Given the description of an element on the screen output the (x, y) to click on. 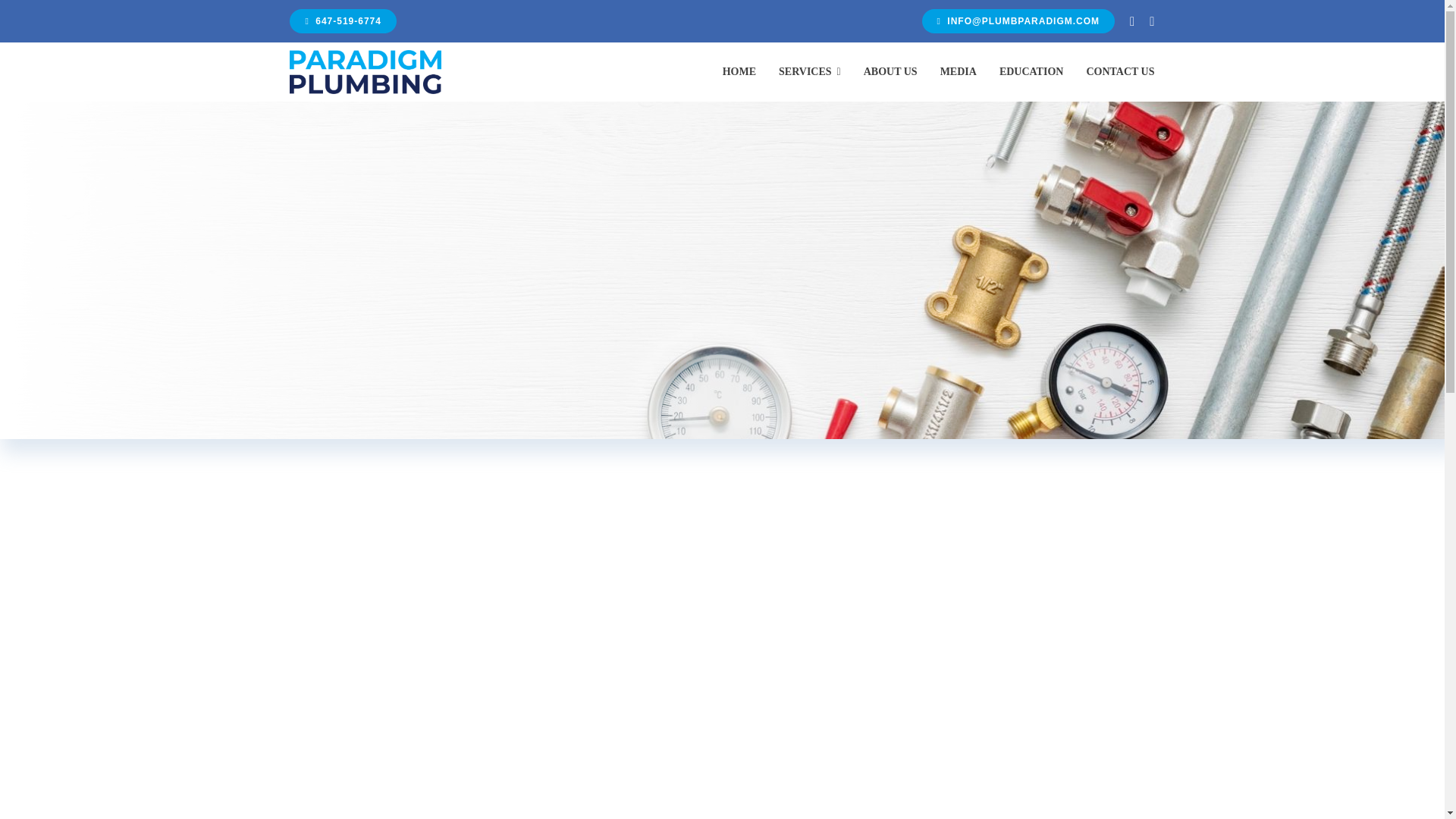
EDUCATION (1031, 71)
SERVICES (809, 71)
647-519-6774 (342, 21)
CONTACT US (1120, 71)
ABOUT US (890, 71)
